Given the description of an element on the screen output the (x, y) to click on. 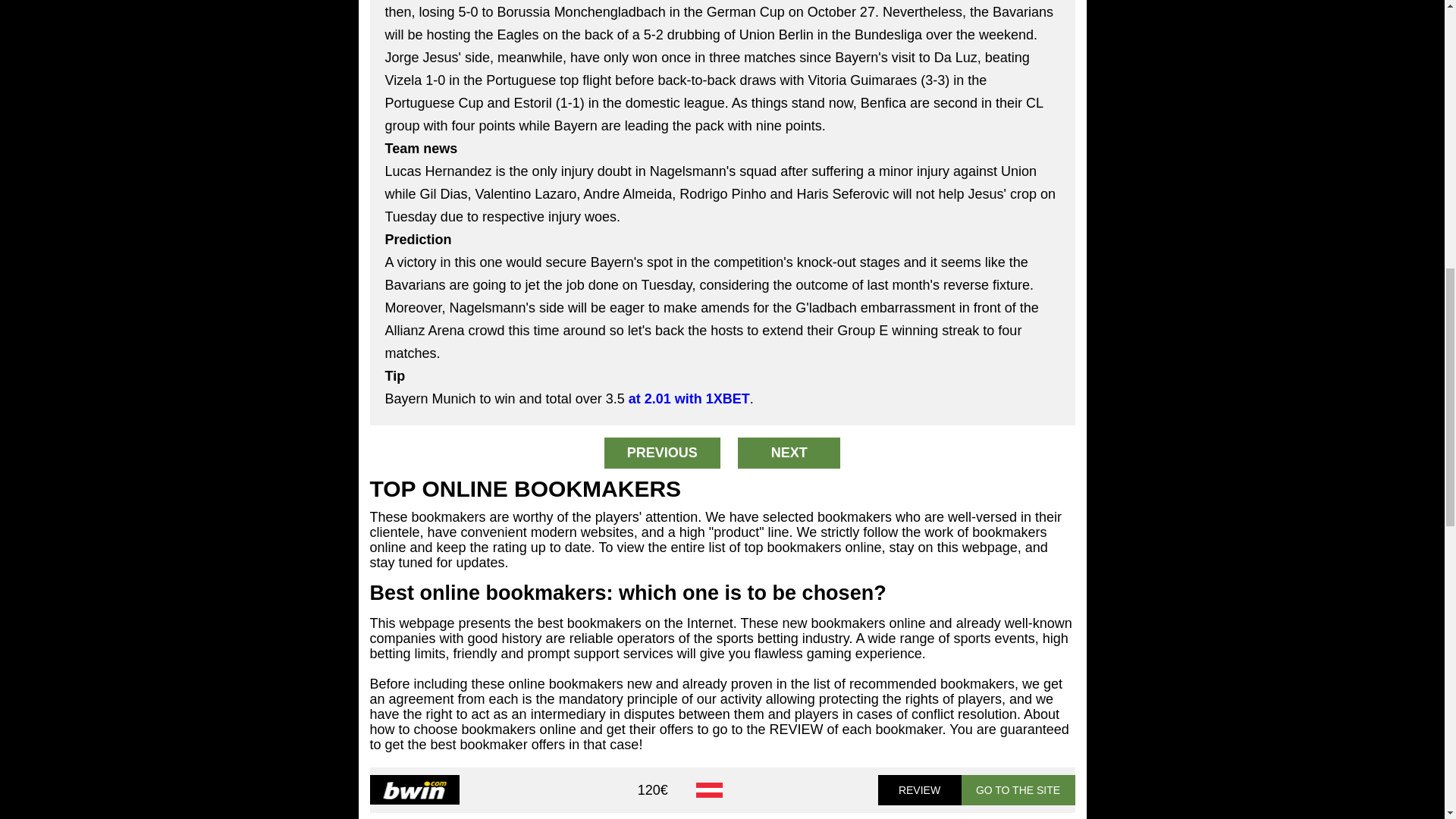
GO TO THE SITE (1017, 789)
at 2.01 with 1XBET (688, 398)
NEXT (789, 452)
bwin (414, 789)
REVIEW (918, 789)
PREVIOUS (662, 452)
